Given the description of an element on the screen output the (x, y) to click on. 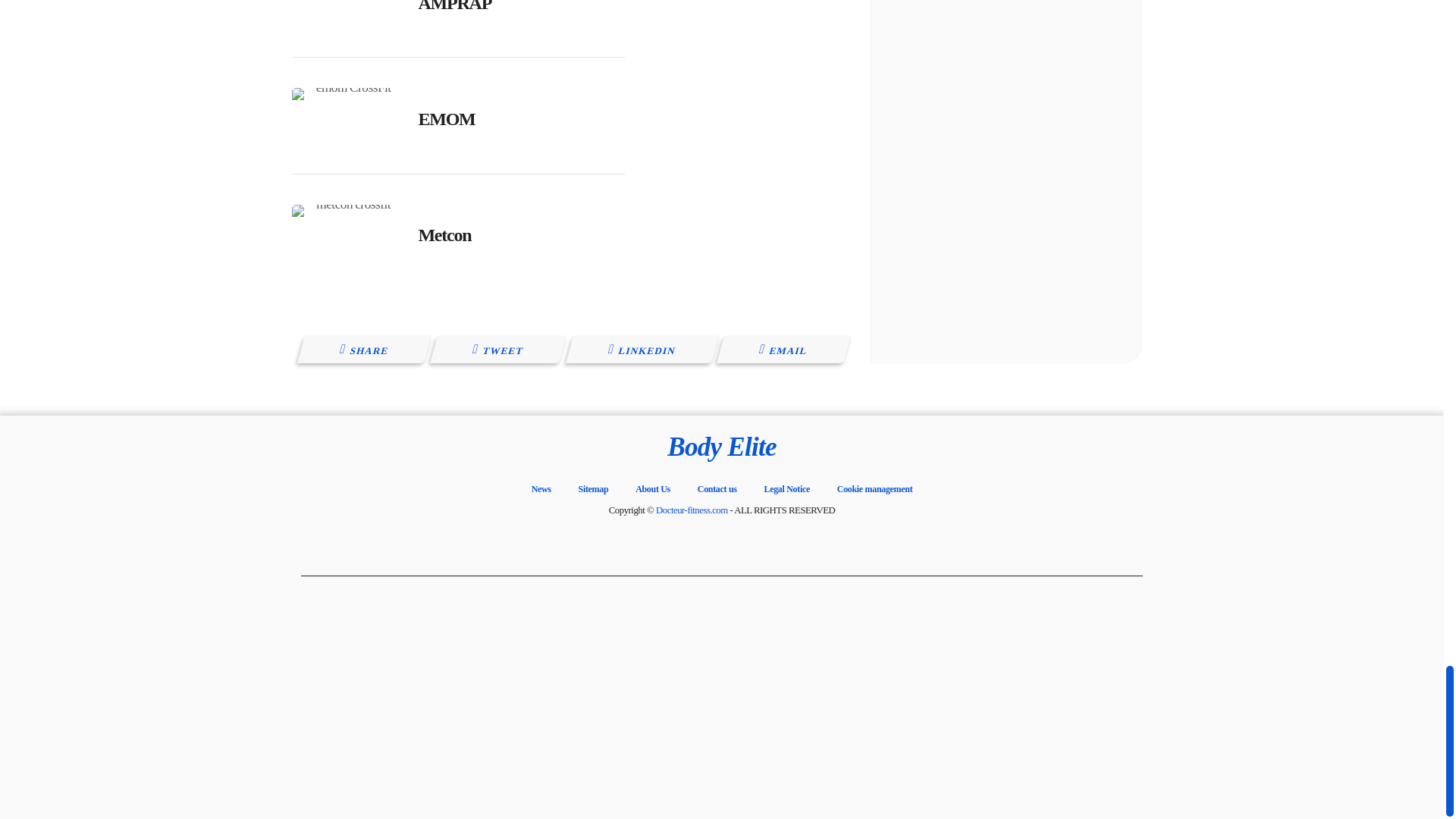
AMPRAP (454, 6)
